Given the description of an element on the screen output the (x, y) to click on. 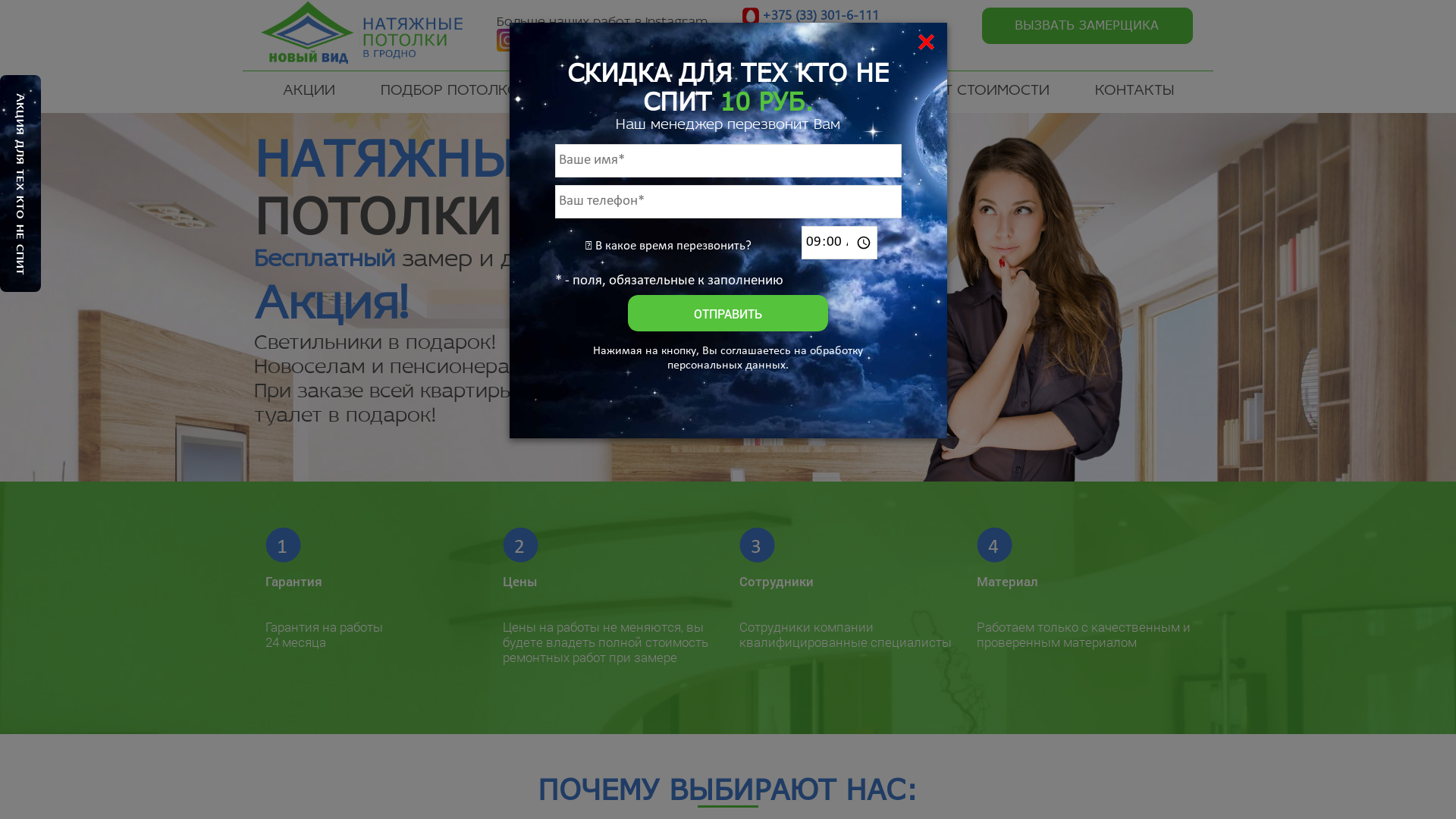
+375 (152) 62-111-2 Element type: text (820, 52)
+375 (44) 7-907-111 Element type: text (820, 33)
+375 (33) 301-6-111 Element type: text (820, 14)
@potolok_new_grodno Element type: text (606, 53)
